Given the description of an element on the screen output the (x, y) to click on. 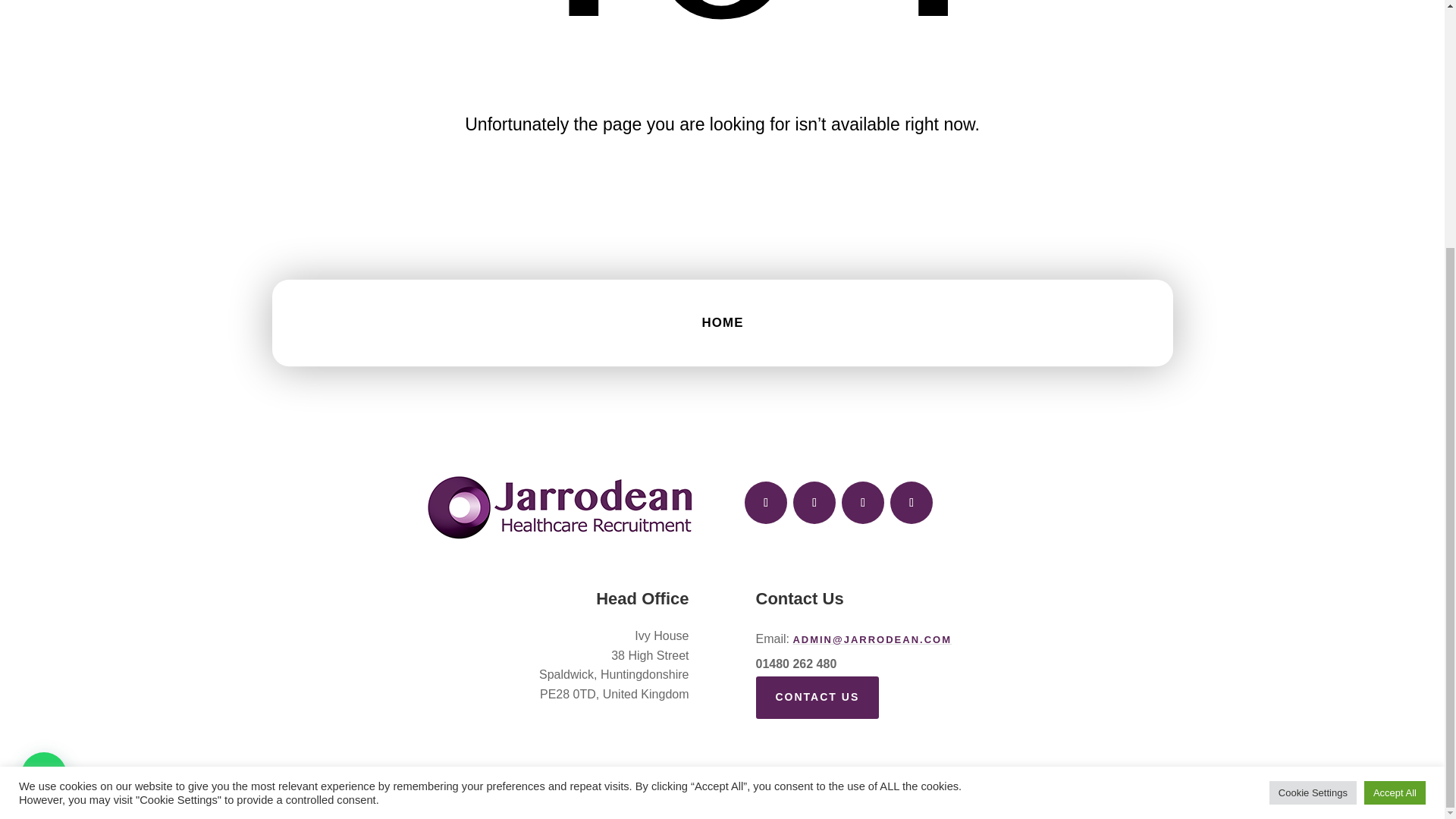
Follow on X (814, 502)
Follow on Instagram (862, 502)
Follow on LinkedIn (911, 502)
Follow on Facebook (765, 502)
